Given the description of an element on the screen output the (x, y) to click on. 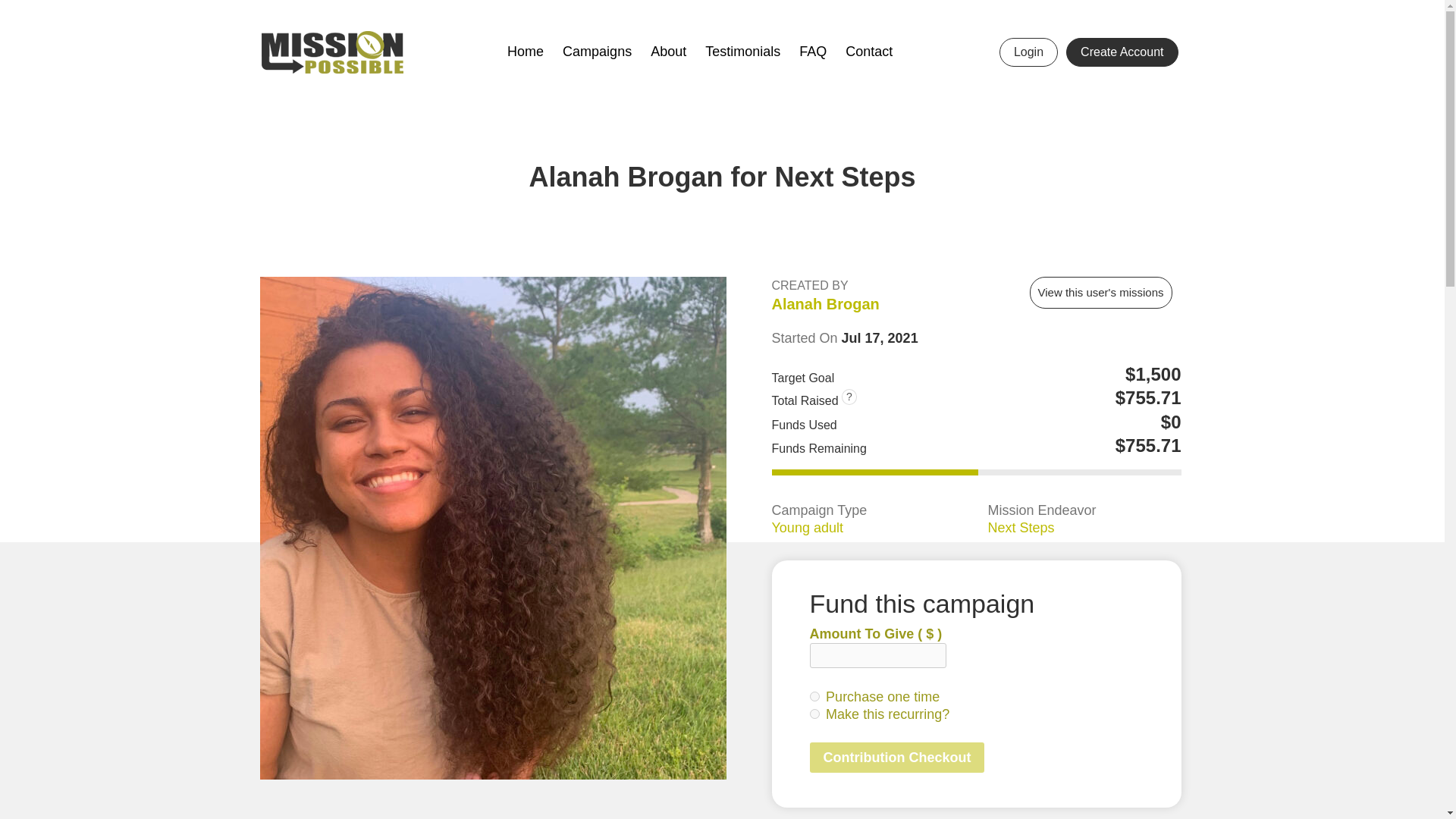
About (667, 51)
Testimonials (742, 51)
Alanah Brogan (825, 304)
Young adult (807, 527)
Contribution Checkout (897, 757)
Next Steps (1020, 527)
Create Account (1121, 52)
View this user's missions (1100, 292)
Campaigns (596, 51)
FAQ (813, 51)
